Given the description of an element on the screen output the (x, y) to click on. 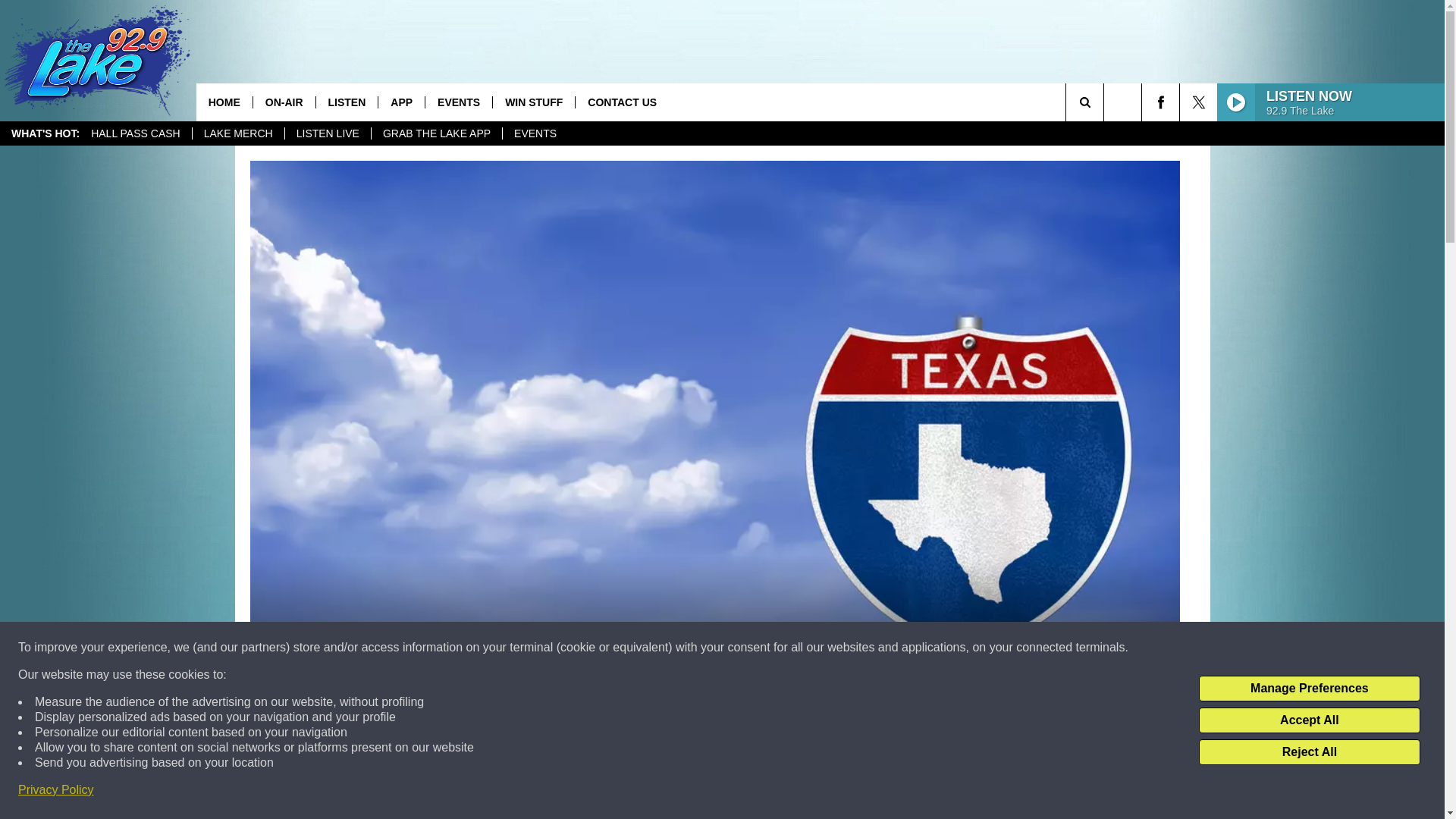
EVENTS (534, 133)
CONTACT US (621, 102)
Privacy Policy (55, 789)
Reject All (1309, 751)
WIN STUFF (533, 102)
LISTEN (346, 102)
HOME (223, 102)
EVENTS (458, 102)
Share on Facebook (517, 791)
ON-AIR (283, 102)
GRAB THE LAKE APP (436, 133)
Manage Preferences (1309, 688)
HALL PASS CASH (136, 133)
LAKE MERCH (237, 133)
APP (401, 102)
